Given the description of an element on the screen output the (x, y) to click on. 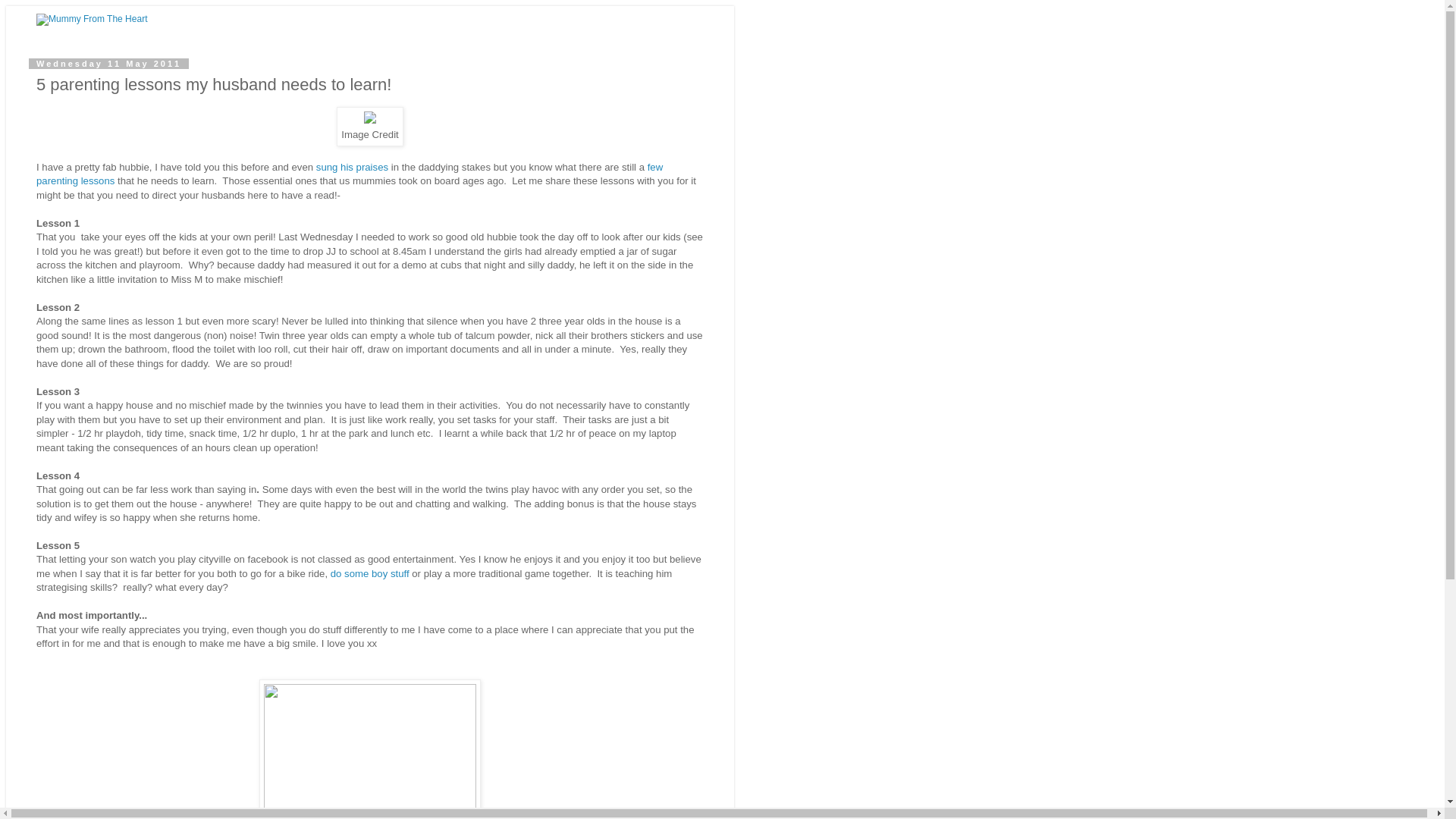
sung his praises (351, 166)
do some boy stuff (369, 573)
few parenting lessons (349, 173)
